Given the description of an element on the screen output the (x, y) to click on. 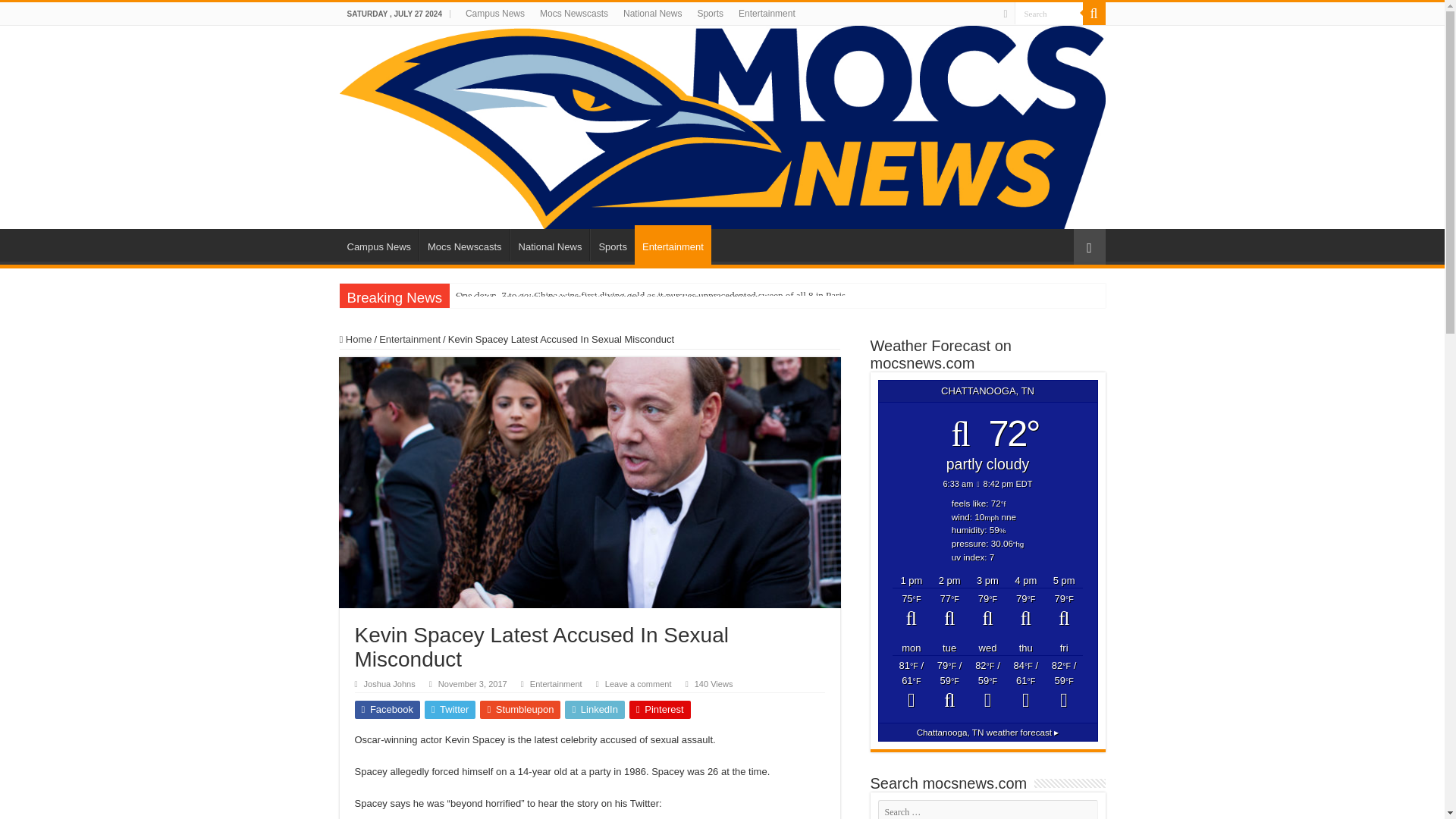
Partly Cloudy (987, 611)
Pinterest (659, 710)
Search (1048, 13)
Home (355, 338)
National News (550, 245)
Twitter (450, 710)
Mocs Newscasts (573, 13)
Entertainment (672, 244)
Leave a comment (638, 683)
Stumbleupon (520, 710)
Joshua Johns (389, 683)
Campus News (379, 245)
